Given the description of an element on the screen output the (x, y) to click on. 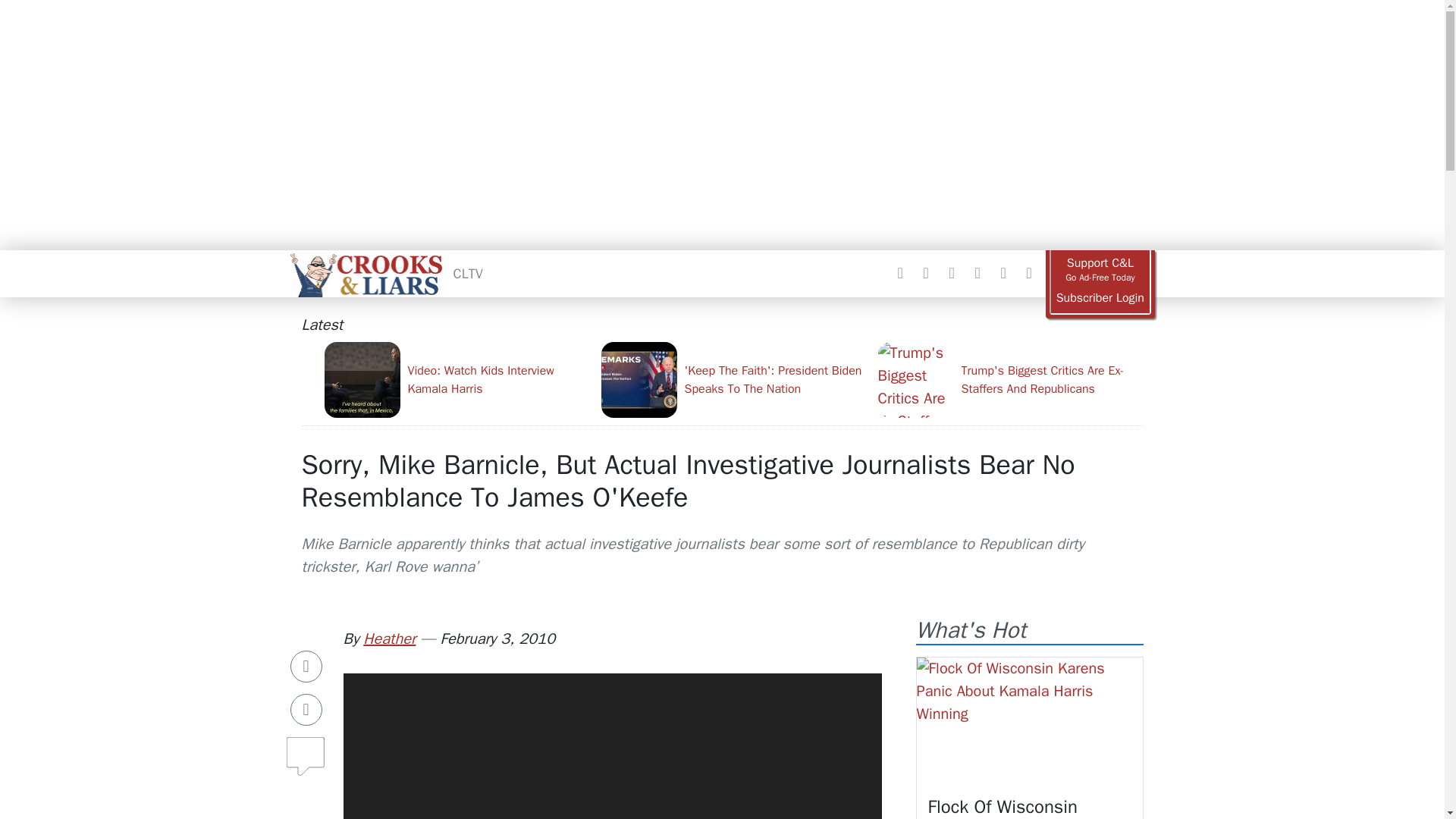
Subscriber Login (1099, 298)
Share on Twitter (306, 709)
'Keep The Faith': President Biden Speaks To The Nation (732, 379)
Video: Watch Kids Interview Kamala Harris (456, 379)
Comments (306, 750)
Join in the discussion (306, 759)
'Keep The Faith': President Biden Speaks To The Nation (732, 379)
Go ad free today! (1099, 270)
Trump's Biggest Critics Are Ex-Staffers And Republicans (1009, 379)
Trump's Biggest Critics Are Ex-Staffers And Republicans (1009, 379)
Login to your ad free account (1099, 298)
Heather (388, 638)
Search (1029, 273)
Video: Watch Kids Interview Kamala Harris (456, 379)
